Given the description of an element on the screen output the (x, y) to click on. 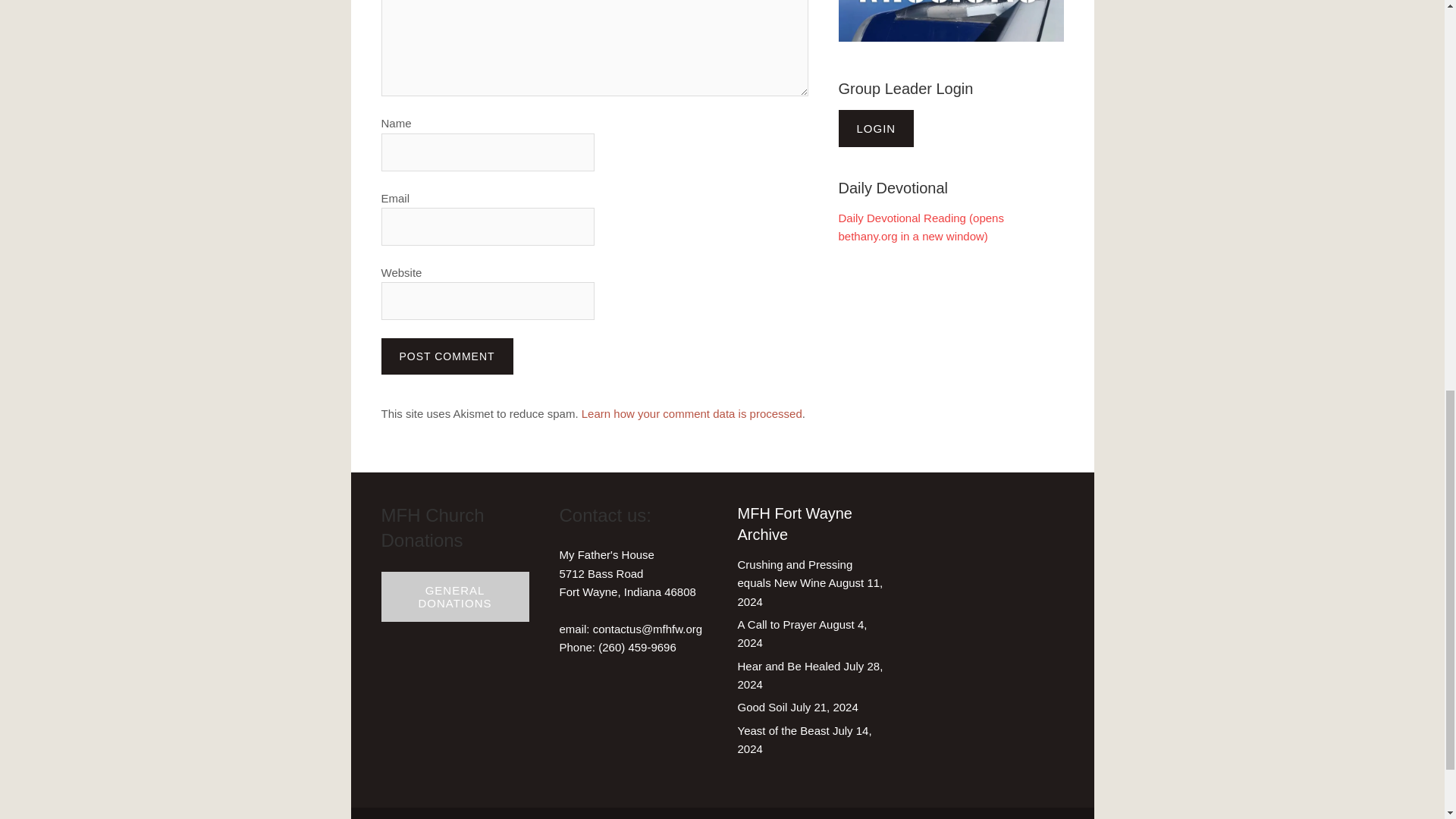
Learn how your comment data is processed (691, 413)
Post Comment (446, 356)
GENERAL DONATIONS (454, 596)
LOGIN (876, 128)
Post Comment (446, 356)
LOGIN (876, 128)
GENERAL DONATIONS (454, 596)
